Given the description of an element on the screen output the (x, y) to click on. 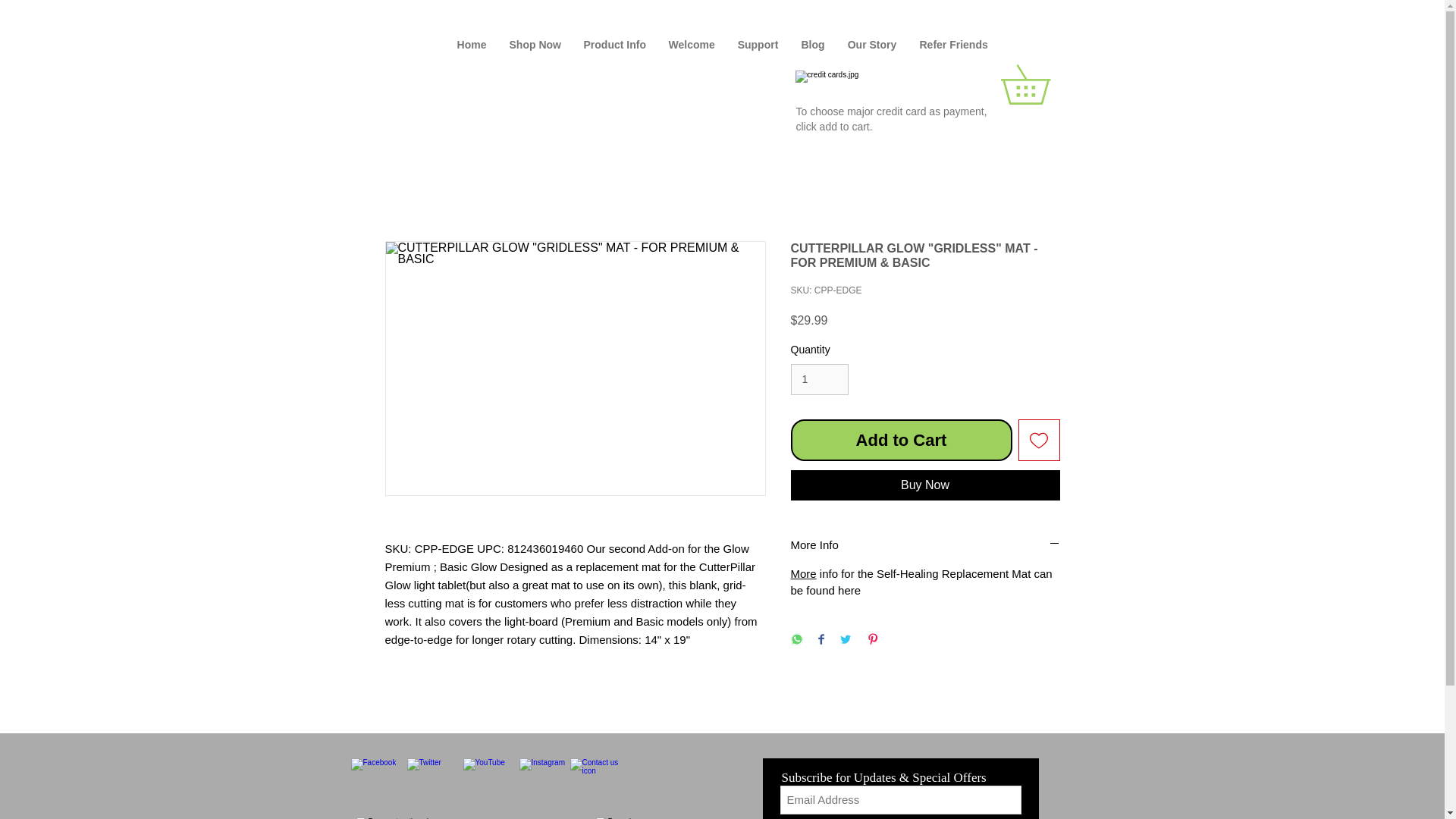
Shop Now (534, 44)
Our Story (871, 44)
Product Info (614, 44)
Buy Now (924, 485)
More (802, 573)
Home (471, 44)
1 (818, 378)
Welcome (690, 44)
Refer Friends (953, 44)
More Info (924, 544)
Support (758, 44)
Add to Cart (900, 440)
Blog (812, 44)
